Given the description of an element on the screen output the (x, y) to click on. 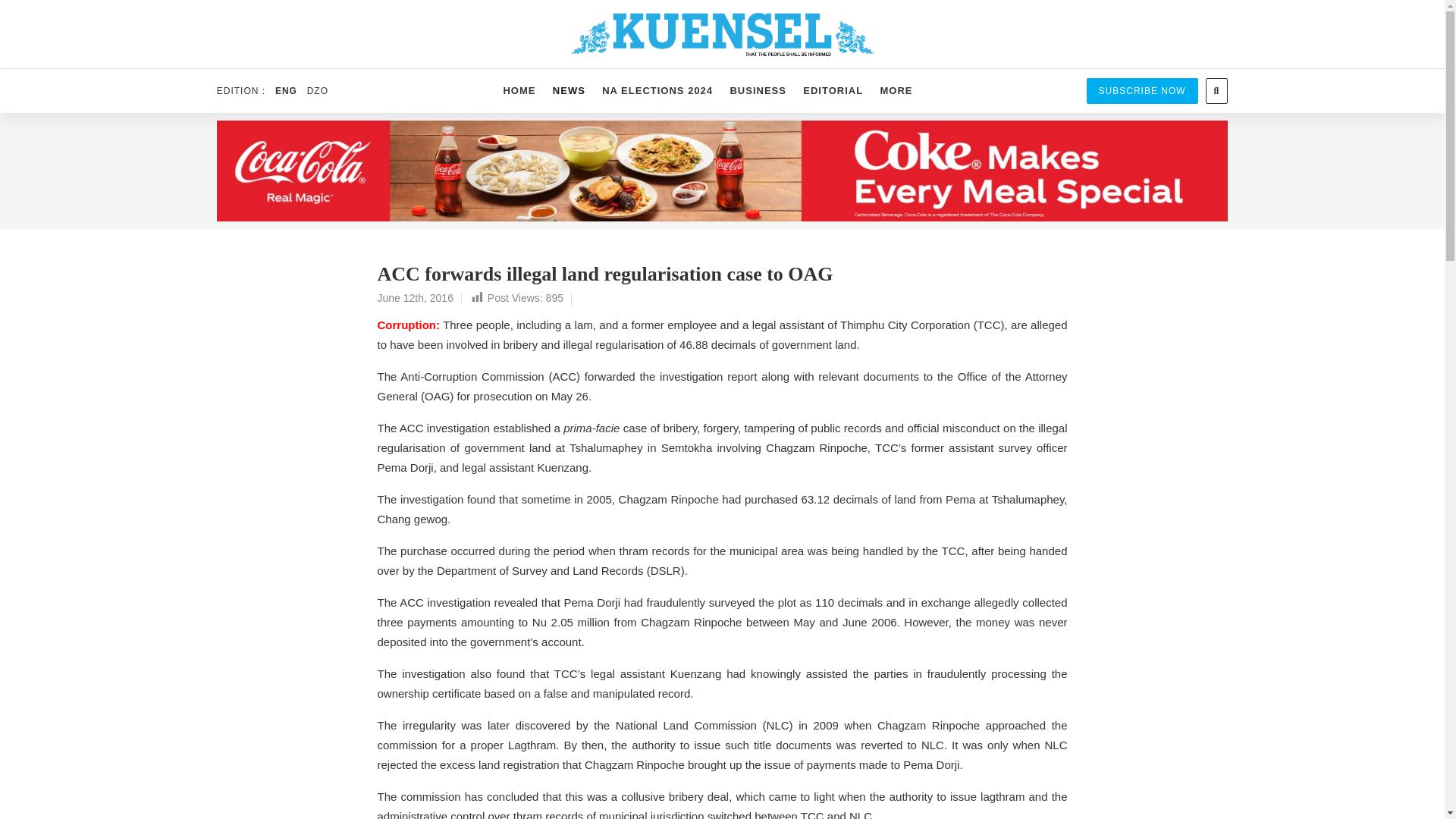
SUBSCRIBE NOW (1142, 90)
BUSINESS (757, 91)
HOME (519, 91)
NEWS (569, 91)
MORE (895, 91)
ENG (285, 91)
DZO (317, 91)
EDITION : (243, 91)
NA ELECTIONS 2024 (657, 91)
EDITORIAL (832, 91)
